Given the description of an element on the screen output the (x, y) to click on. 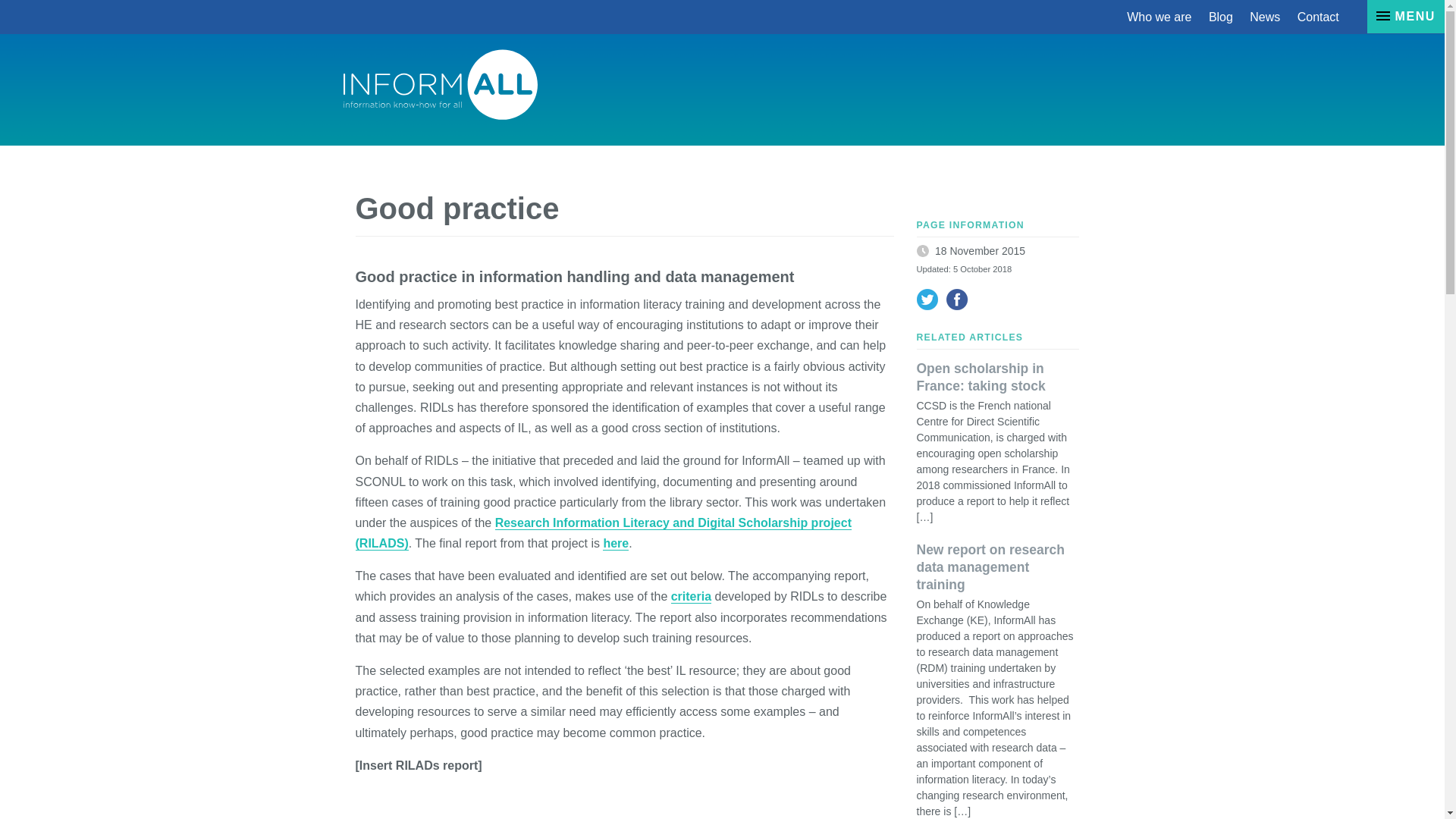
Open scholarship in France: taking stock (996, 442)
RILADS (602, 533)
Tweet: Good practice (926, 299)
Go to the home page... (439, 83)
New report on research data management training (996, 680)
